Given the description of an element on the screen output the (x, y) to click on. 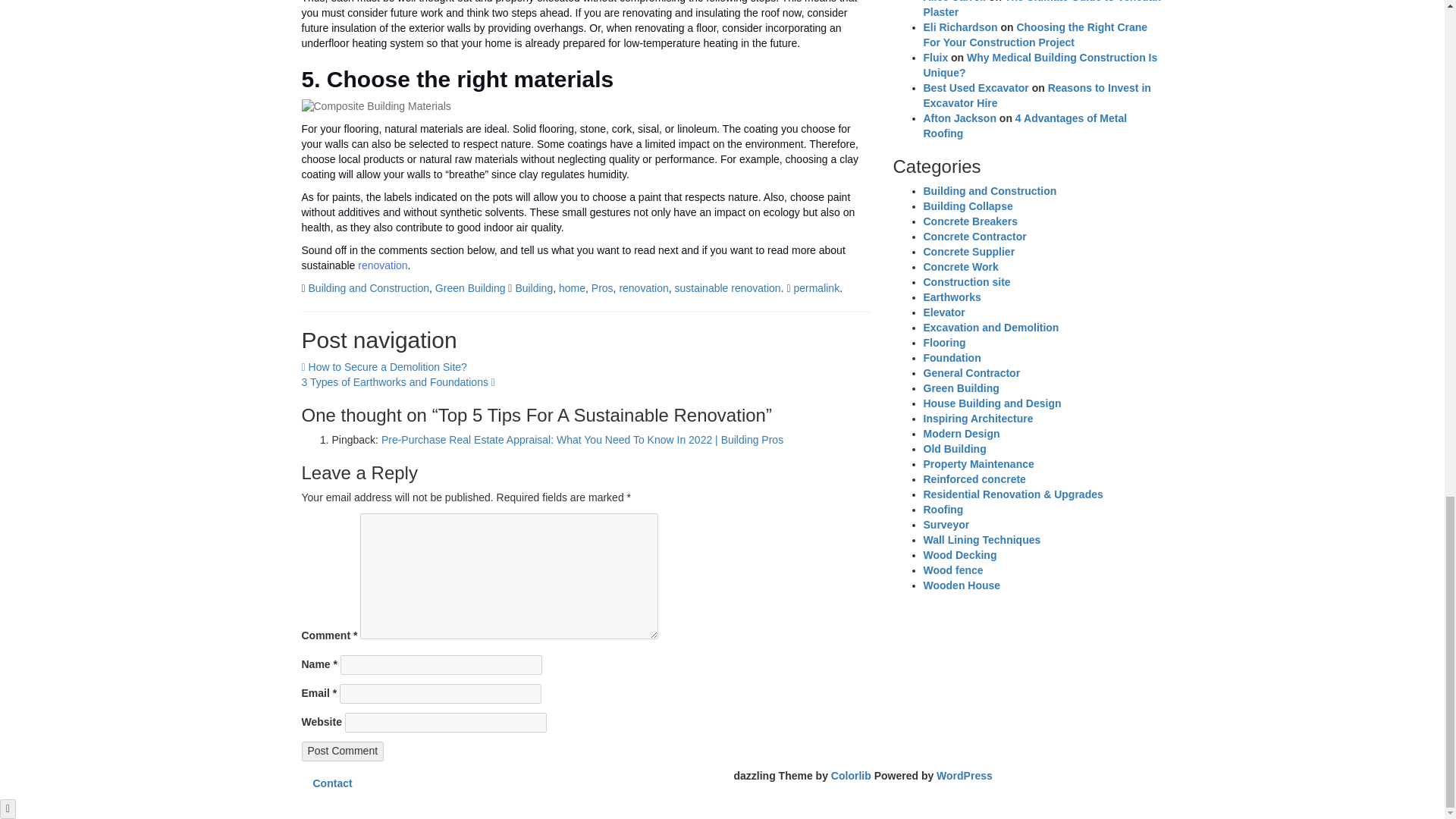
3 Types of Earthworks and Foundations (398, 381)
renovation (643, 287)
Post Comment (342, 751)
How to Secure a Demolition Site? (384, 367)
home (572, 287)
permalink (816, 287)
sustainable renovation (727, 287)
Building (534, 287)
Pros (601, 287)
Post Comment (342, 751)
Green Building (470, 287)
Building and Construction (368, 287)
renovation (382, 265)
